Given the description of an element on the screen output the (x, y) to click on. 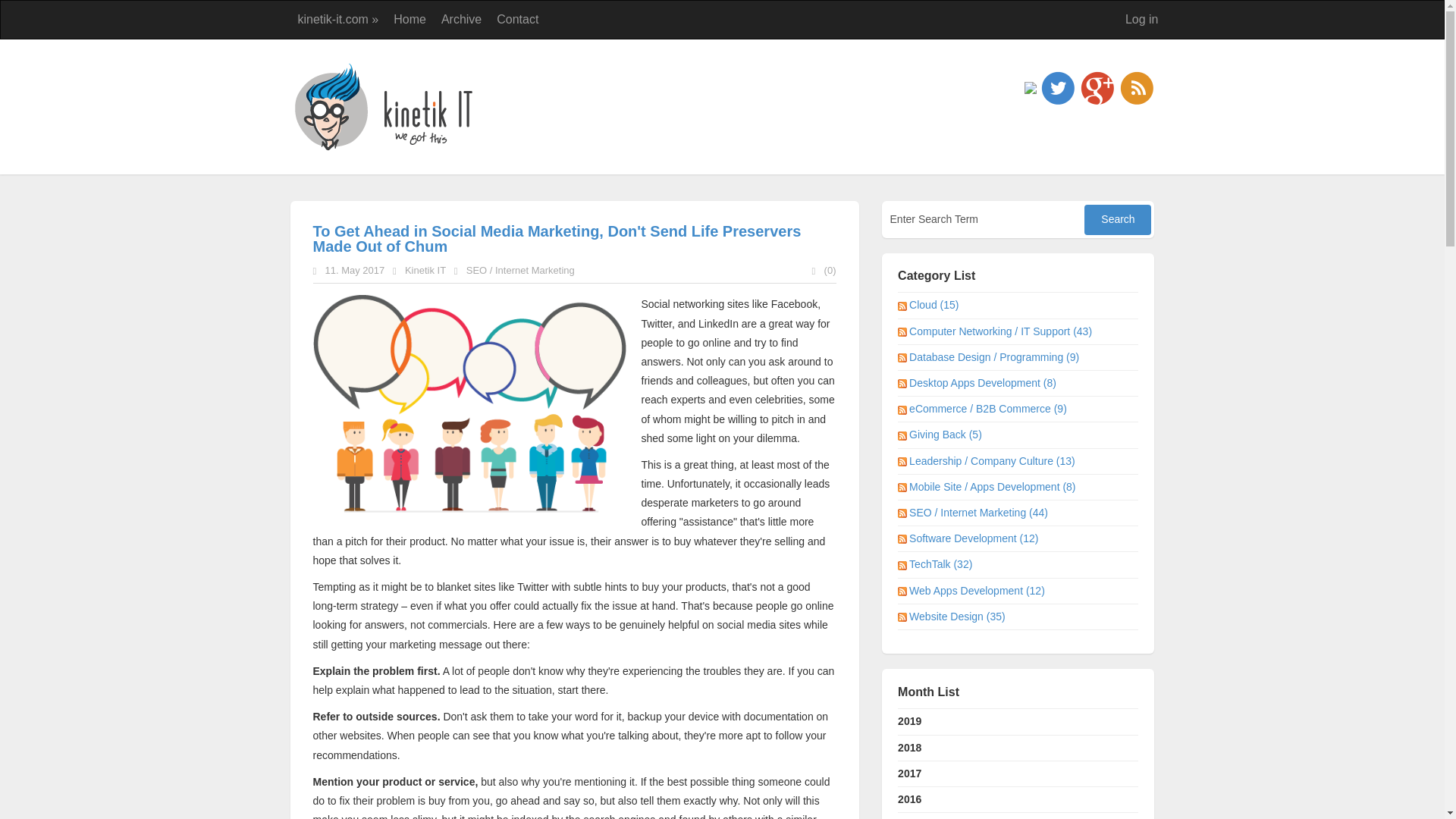
Log in (1142, 19)
Enter Search Term (983, 218)
Category: Software Development (974, 538)
Category: Cloud (934, 304)
Category: Desktop Apps Development (983, 382)
Category: TechTalk (941, 563)
Kinetik IT (424, 270)
Archive (461, 19)
Category: Giving Back (946, 434)
